Given the description of an element on the screen output the (x, y) to click on. 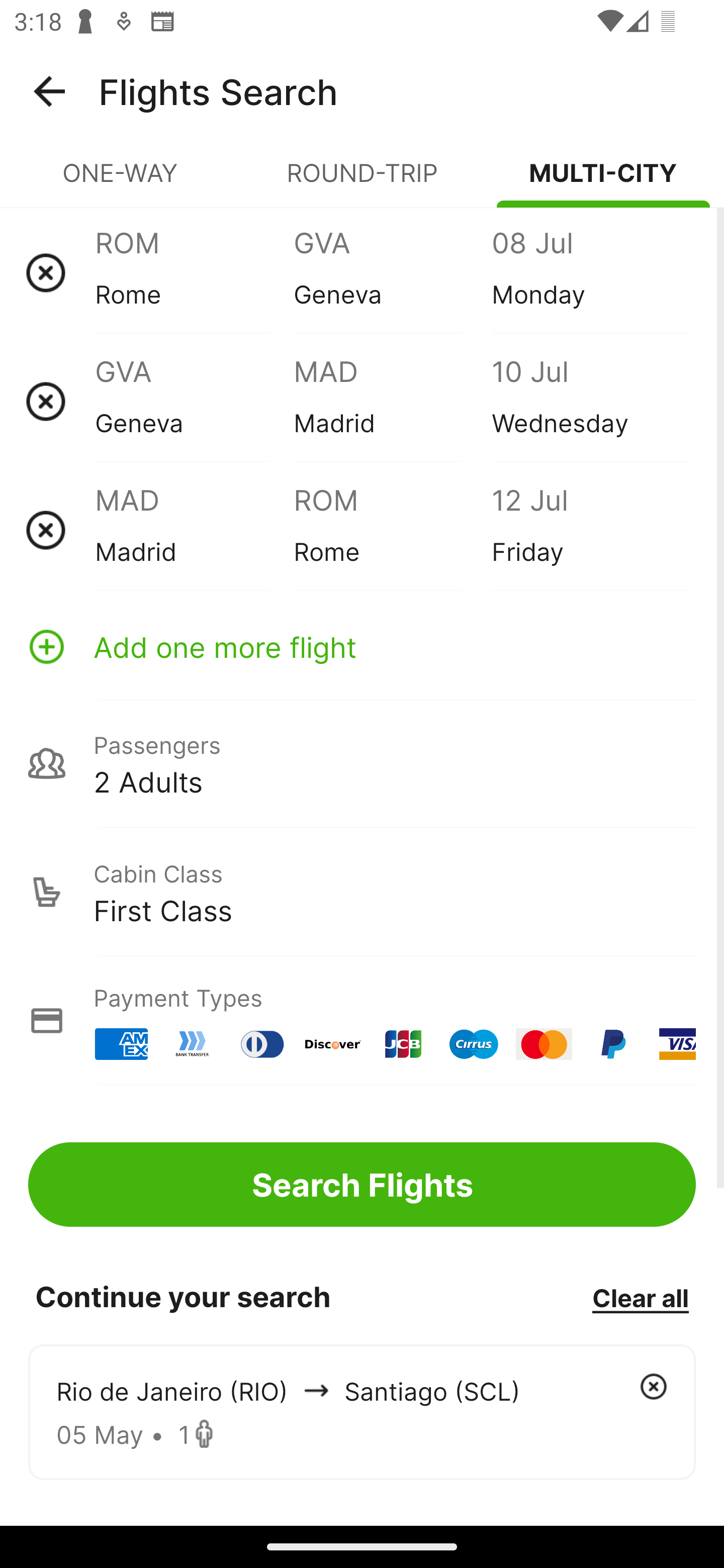
ONE-WAY (120, 180)
ROUND-TRIP (361, 180)
MULTI-CITY (603, 180)
ROM Rome (193, 272)
GVA Geneva (392, 272)
08 Jul Monday (590, 272)
GVA Geneva (193, 401)
MAD Madrid (392, 401)
10 Jul Wednesday (590, 401)
MAD Madrid (193, 529)
ROM Rome (392, 529)
12 Jul Friday (590, 529)
Add one more flight (362, 646)
Passengers 2 Adults (362, 762)
Cabin Class First Class (362, 891)
Payment Types (362, 1020)
Search Flights (361, 1184)
Clear all (640, 1297)
